Given the description of an element on the screen output the (x, y) to click on. 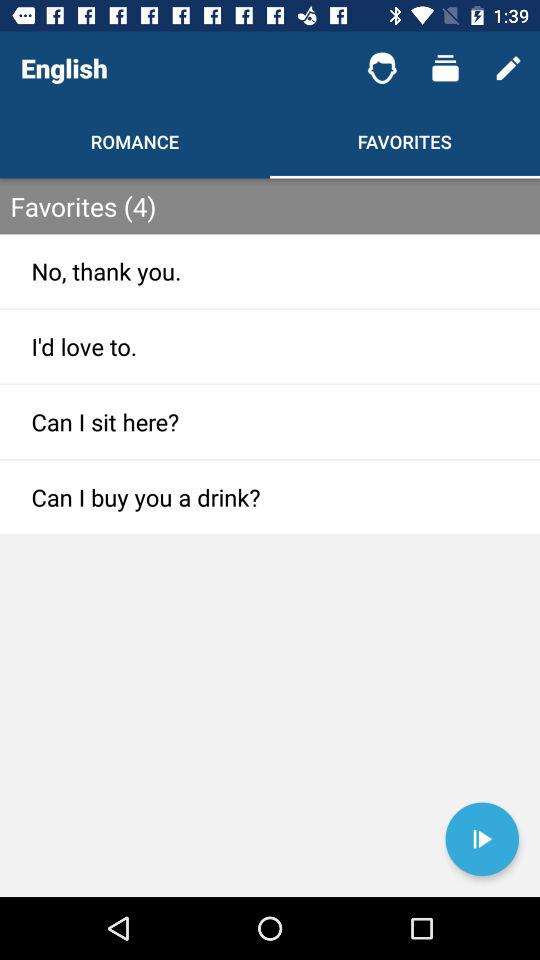
turn off icon at the bottom right corner (482, 839)
